Given the description of an element on the screen output the (x, y) to click on. 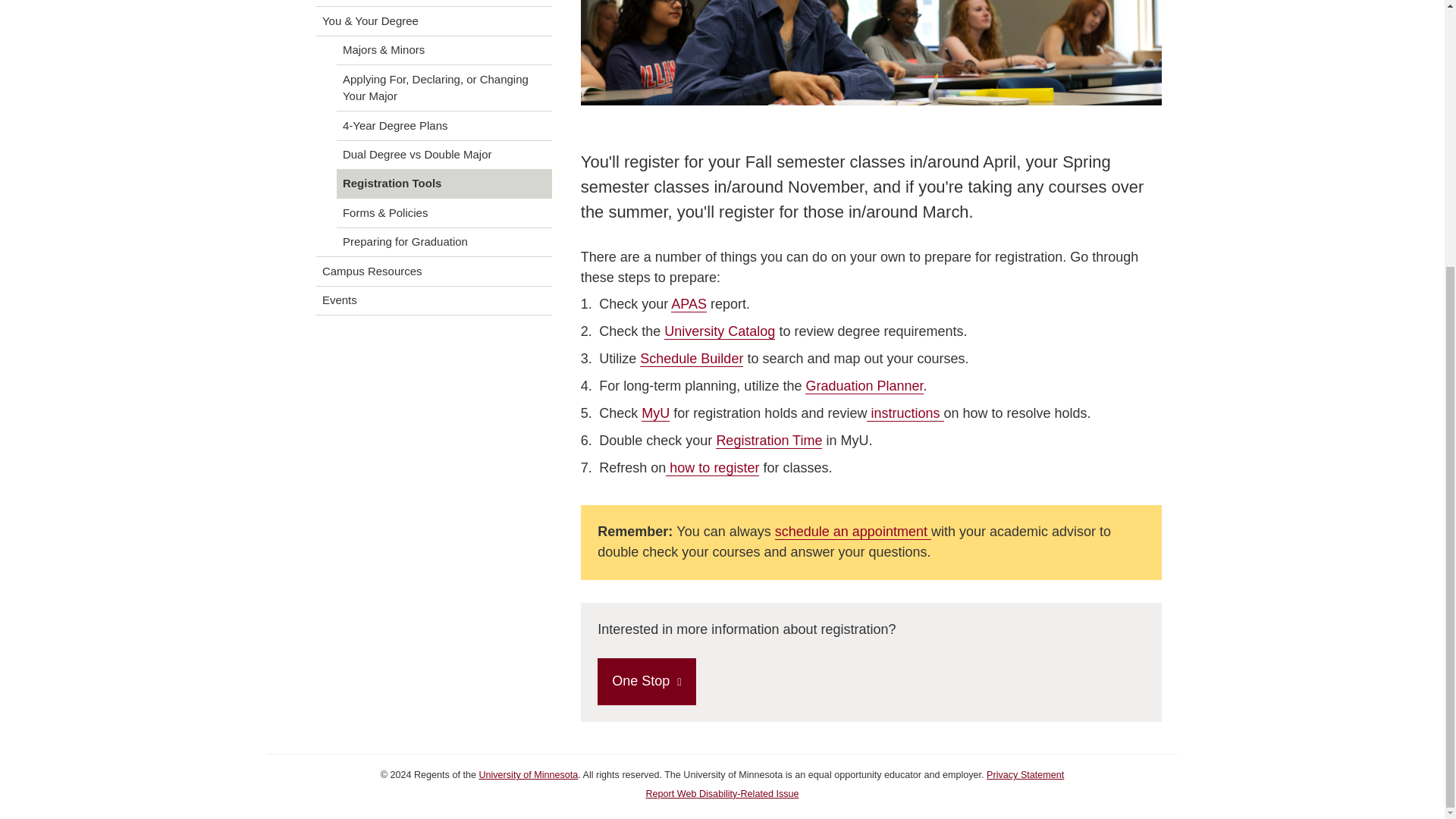
classes (870, 55)
classes (870, 52)
